Given the description of an element on the screen output the (x, y) to click on. 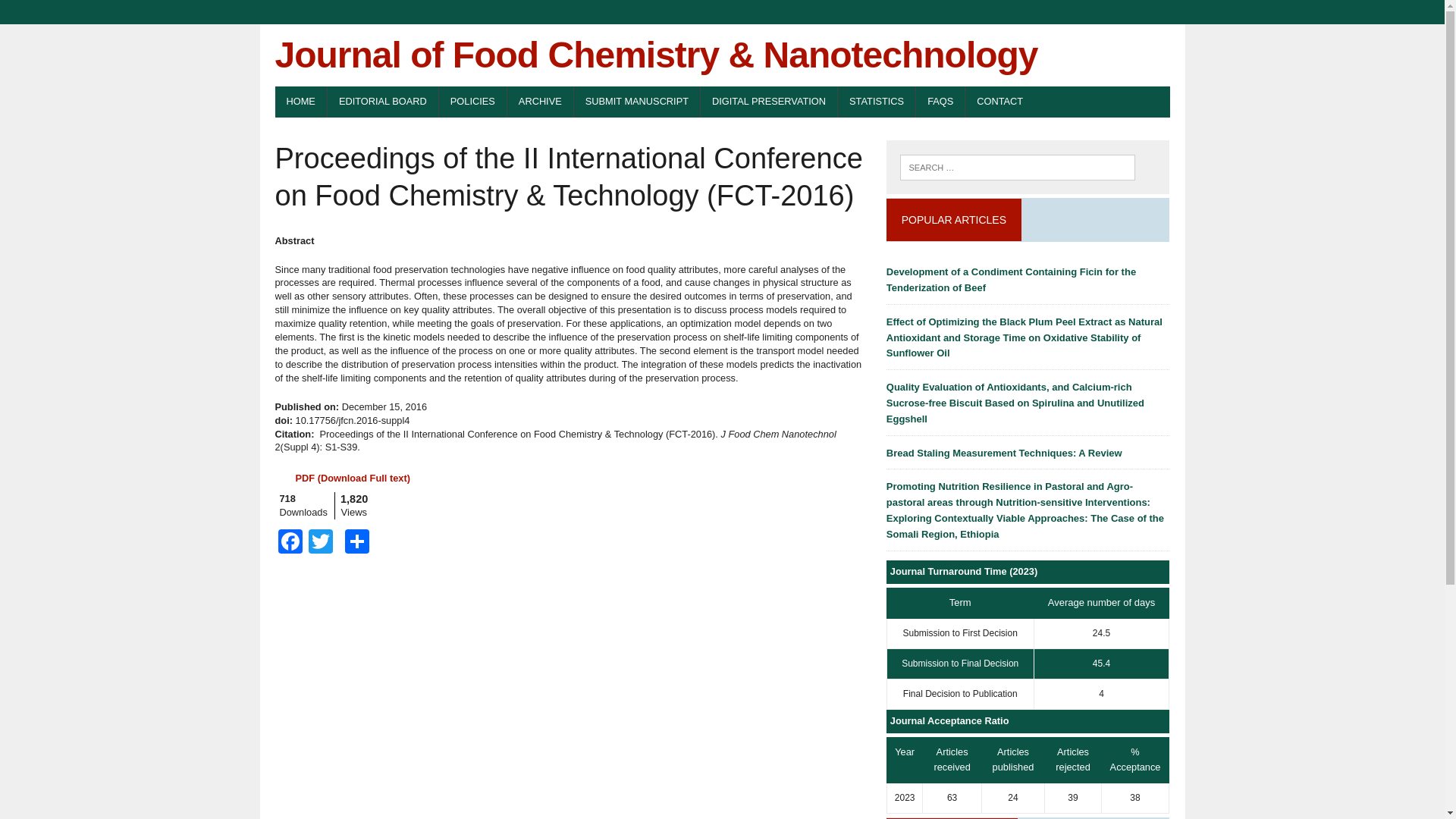
HOME (300, 101)
jfcn-s4-fct (351, 477)
SUBMIT MANUSCRIPT (636, 101)
Search for: (1016, 167)
DIGITAL PRESERVATION (768, 101)
STATISTICS (876, 101)
CONTACT (999, 101)
Share (355, 543)
Facebook (289, 543)
FAQS (939, 101)
Twitter (319, 543)
Search (75, 14)
EDITORIAL BOARD (382, 101)
